Given the description of an element on the screen output the (x, y) to click on. 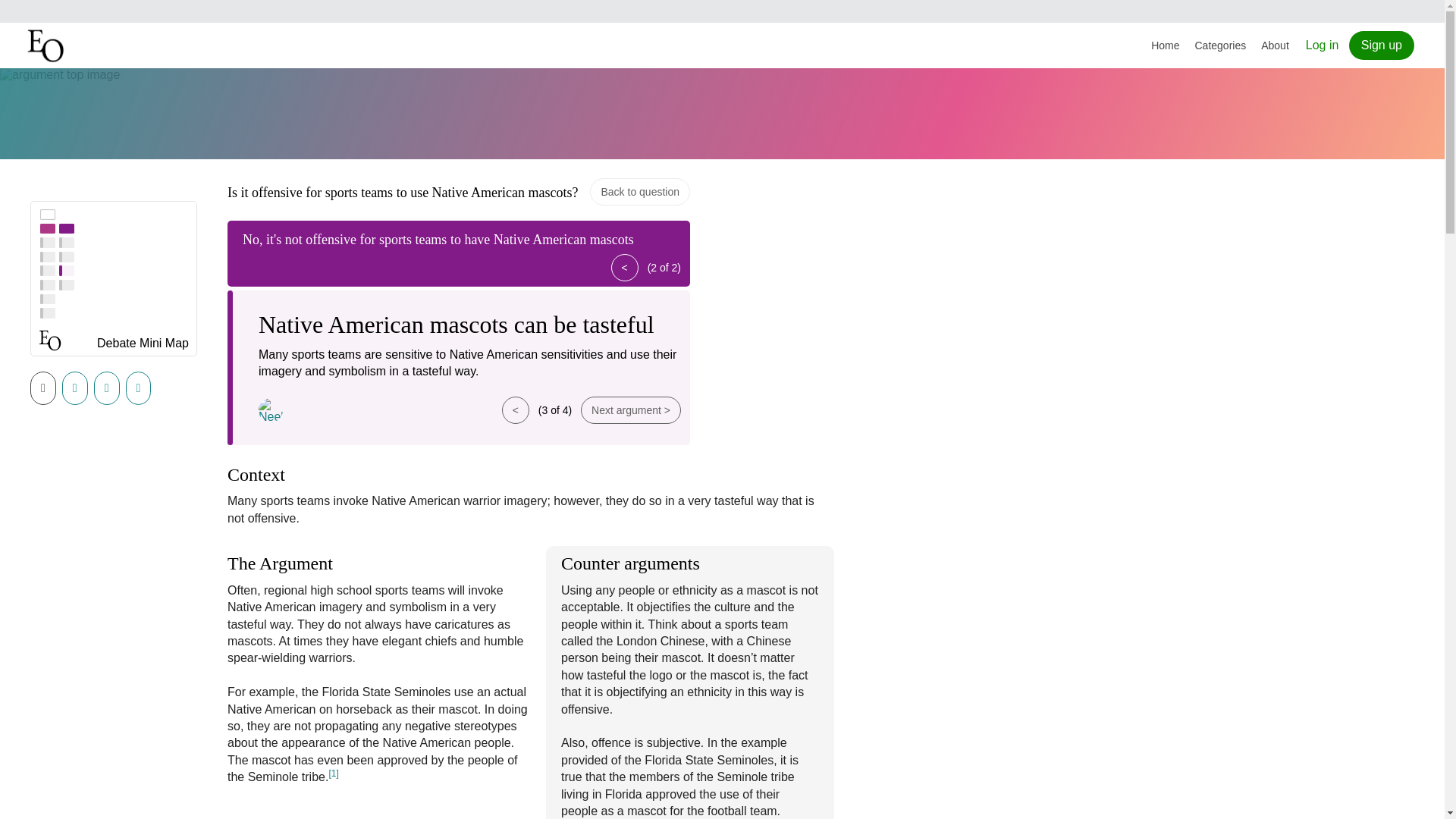
Sign up (1381, 45)
Back to question (639, 191)
About (1275, 44)
Go to homepage (47, 45)
Debate Mini Map (143, 344)
Log in (1322, 44)
Home (1164, 44)
Categories (1220, 44)
